Given the description of an element on the screen output the (x, y) to click on. 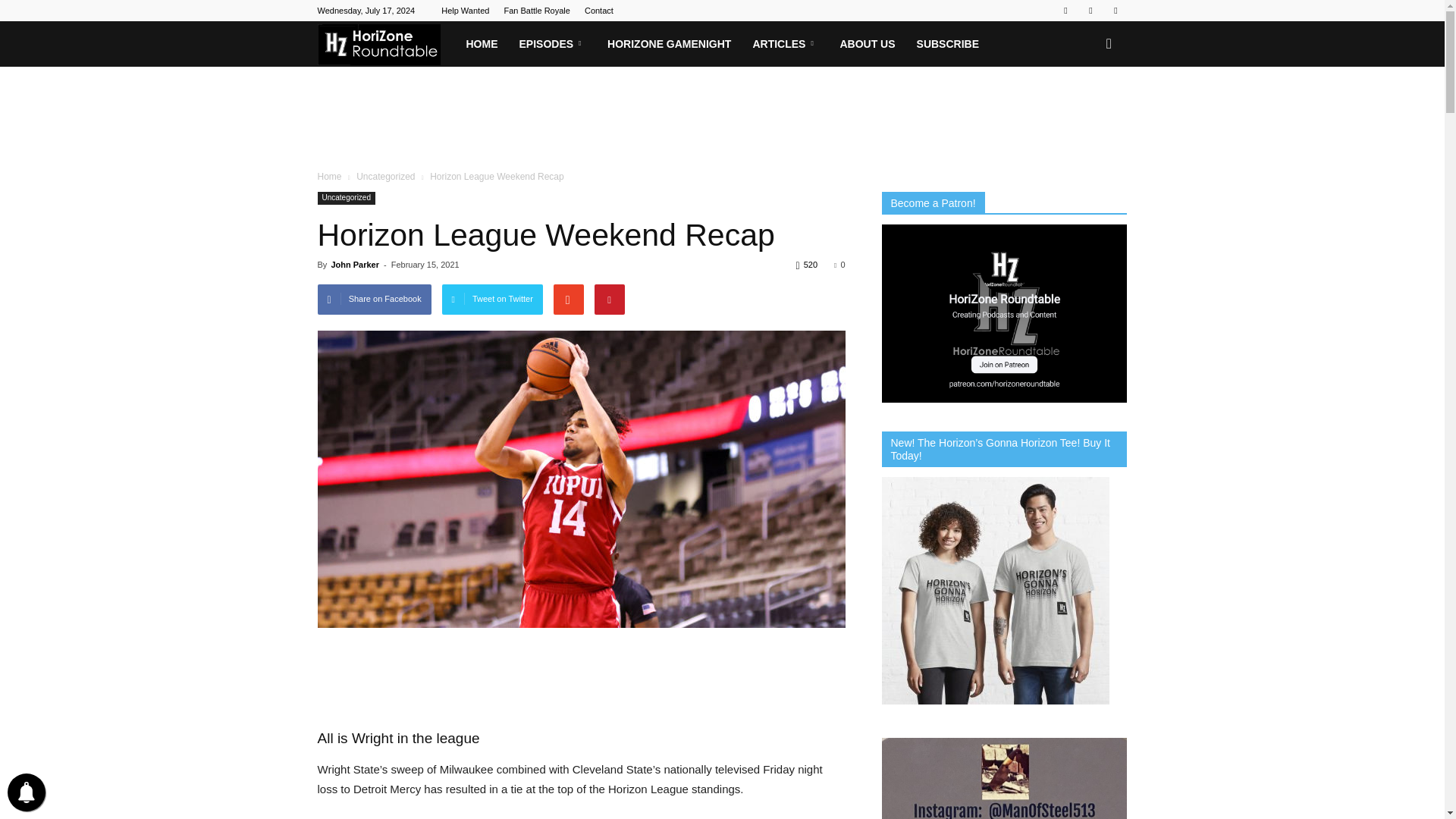
EPISODES (552, 43)
HOME (481, 43)
Advertisement (580, 669)
Fan Battle Royale (536, 10)
Youtube (1114, 10)
Advertisement (721, 119)
Contact (598, 10)
Help Wanted (465, 10)
HoriZone Roundtable (385, 43)
Facebook (1065, 10)
View all posts in Uncategorized (385, 176)
Twitter (1090, 10)
